Given the description of an element on the screen output the (x, y) to click on. 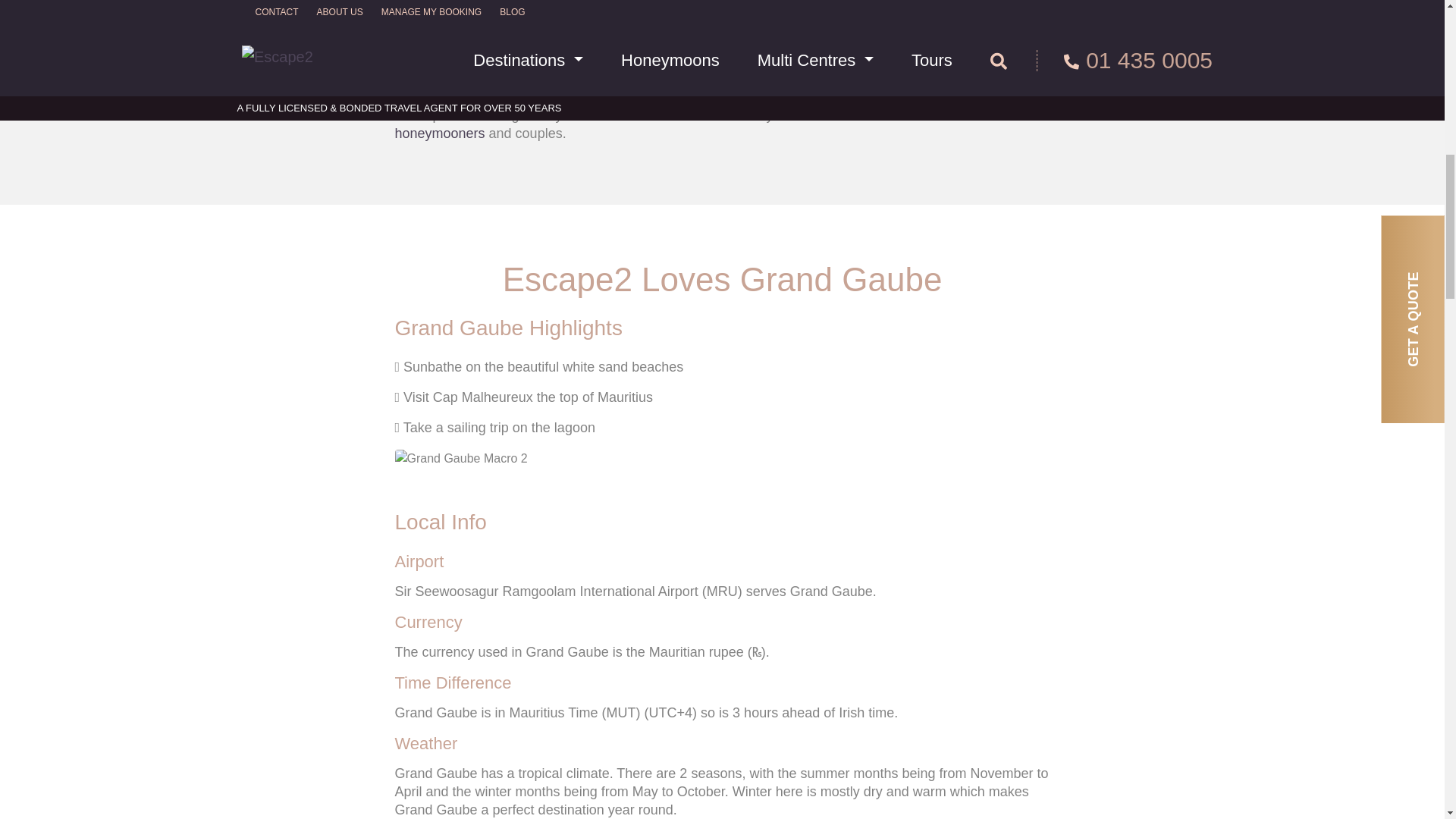
Honeymoon Packages (439, 133)
